Given the description of an element on the screen output the (x, y) to click on. 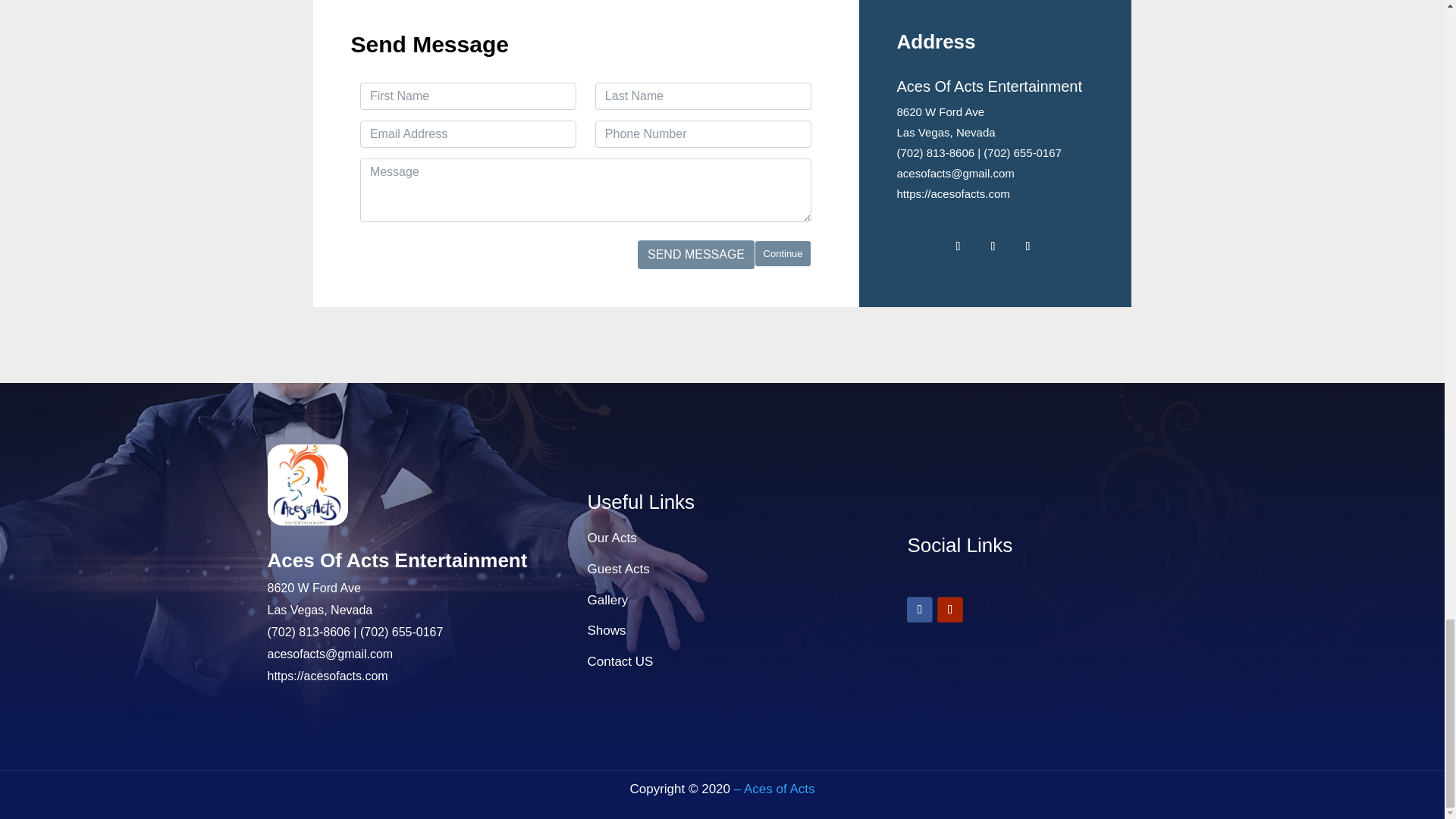
Gallary (606, 599)
SEND MESSAGE (695, 254)
Guest Acts (617, 568)
Follow on Facebook (956, 246)
Follow on Facebook (919, 608)
Follow on Instagram (1026, 246)
Aces of Acts (774, 789)
Aces Of Acts Entertainment (396, 559)
Continue (782, 253)
Our Acts (611, 537)
Guest Acts (617, 568)
Shows (606, 630)
Follow on Youtube (948, 608)
Follow on X (991, 246)
Gallery (606, 599)
